Given the description of an element on the screen output the (x, y) to click on. 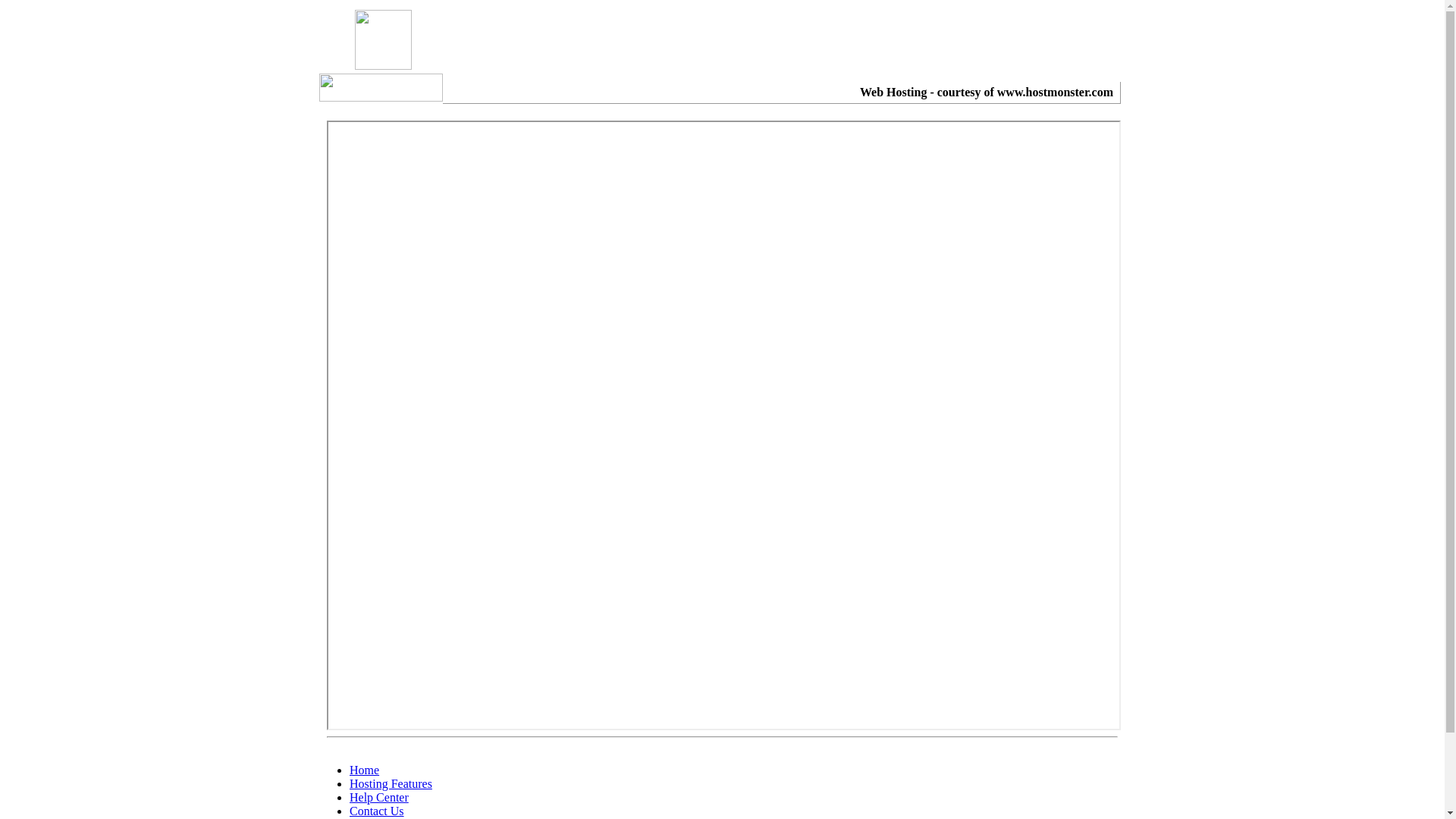
Web Hosting - courtesy of www.hostmonster.com Element type: text (986, 91)
Help Center Element type: text (378, 796)
Home Element type: text (364, 769)
Contact Us Element type: text (376, 810)
Hosting Features Element type: text (390, 783)
